Given the description of an element on the screen output the (x, y) to click on. 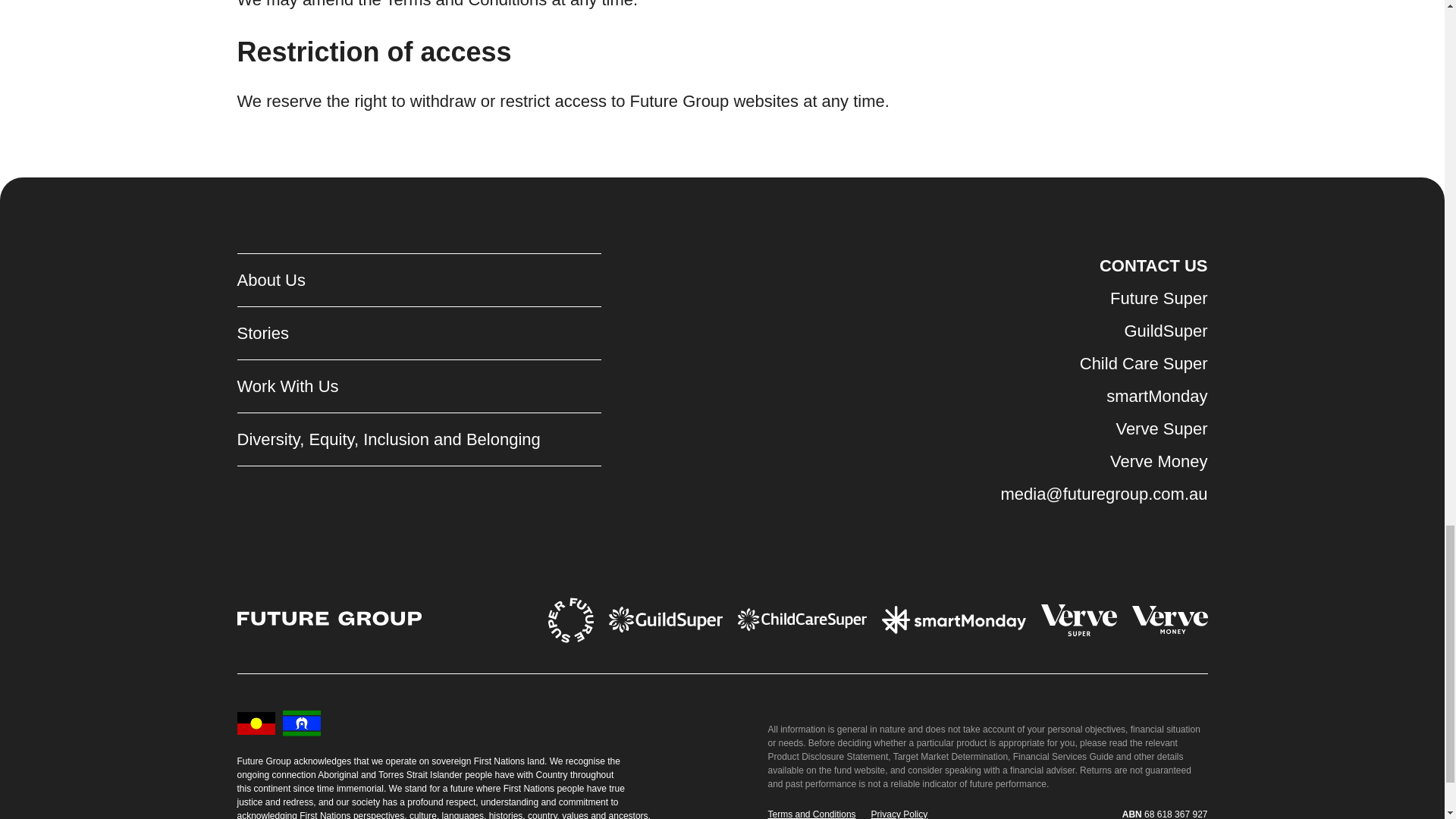
Verve Money (1103, 461)
Future Super (1103, 298)
Child Care Super (1103, 363)
Work With Us (387, 386)
GuildSuper (1103, 330)
Verve Super (1103, 428)
Diversity, Equity, Inclusion and Belonging (387, 439)
smartMonday (1103, 396)
Privacy Policy (899, 814)
Stories (387, 333)
